Given the description of an element on the screen output the (x, y) to click on. 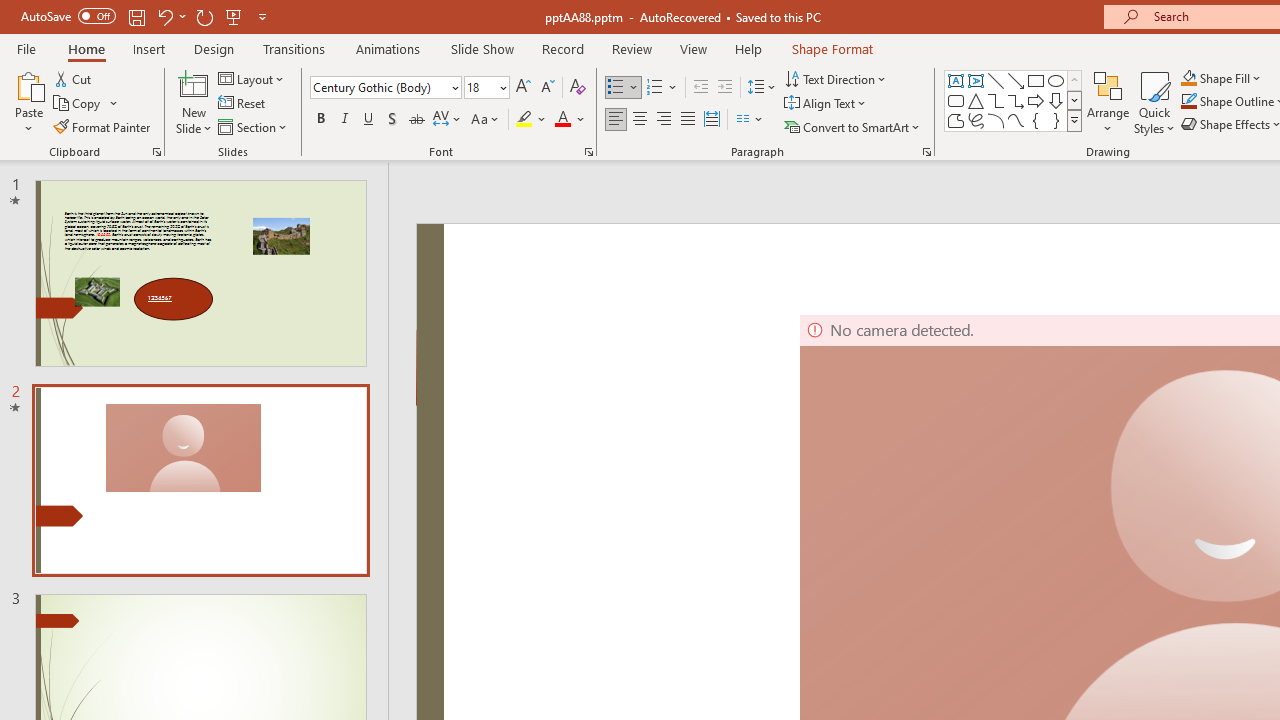
Shape Fill Aqua, Accent 2 (1188, 78)
